Given the description of an element on the screen output the (x, y) to click on. 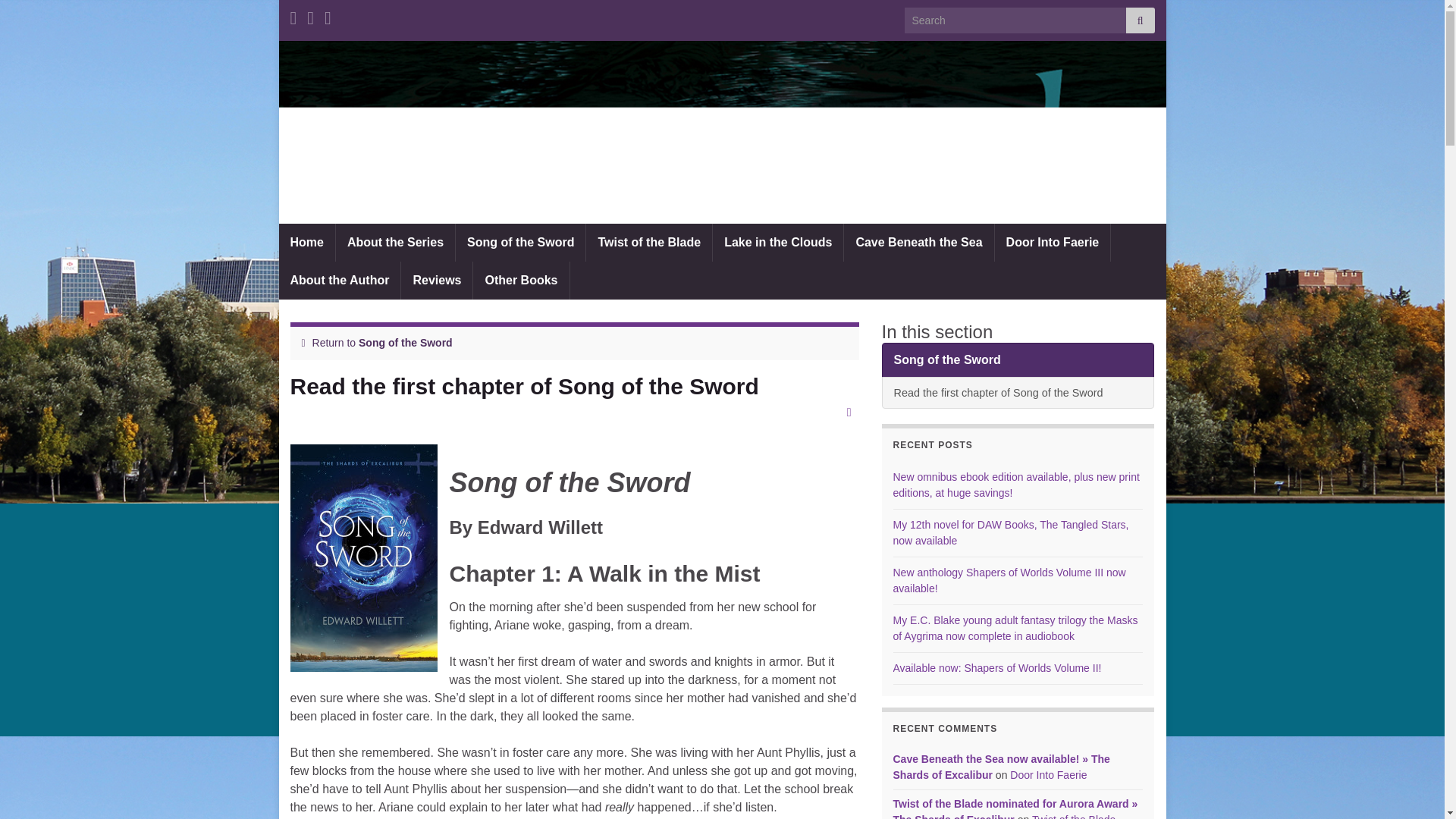
About the Author (340, 280)
Lake in the Clouds (778, 242)
Cave Beneath the Sea (918, 242)
Song of the Sword (405, 342)
Read the first chapter of Song of the Sword (1017, 392)
About the Series (395, 242)
Twist of the Blade (648, 242)
Other Books (521, 280)
Song of the Sword (520, 242)
Door Into Faerie (1052, 242)
